Given the description of an element on the screen output the (x, y) to click on. 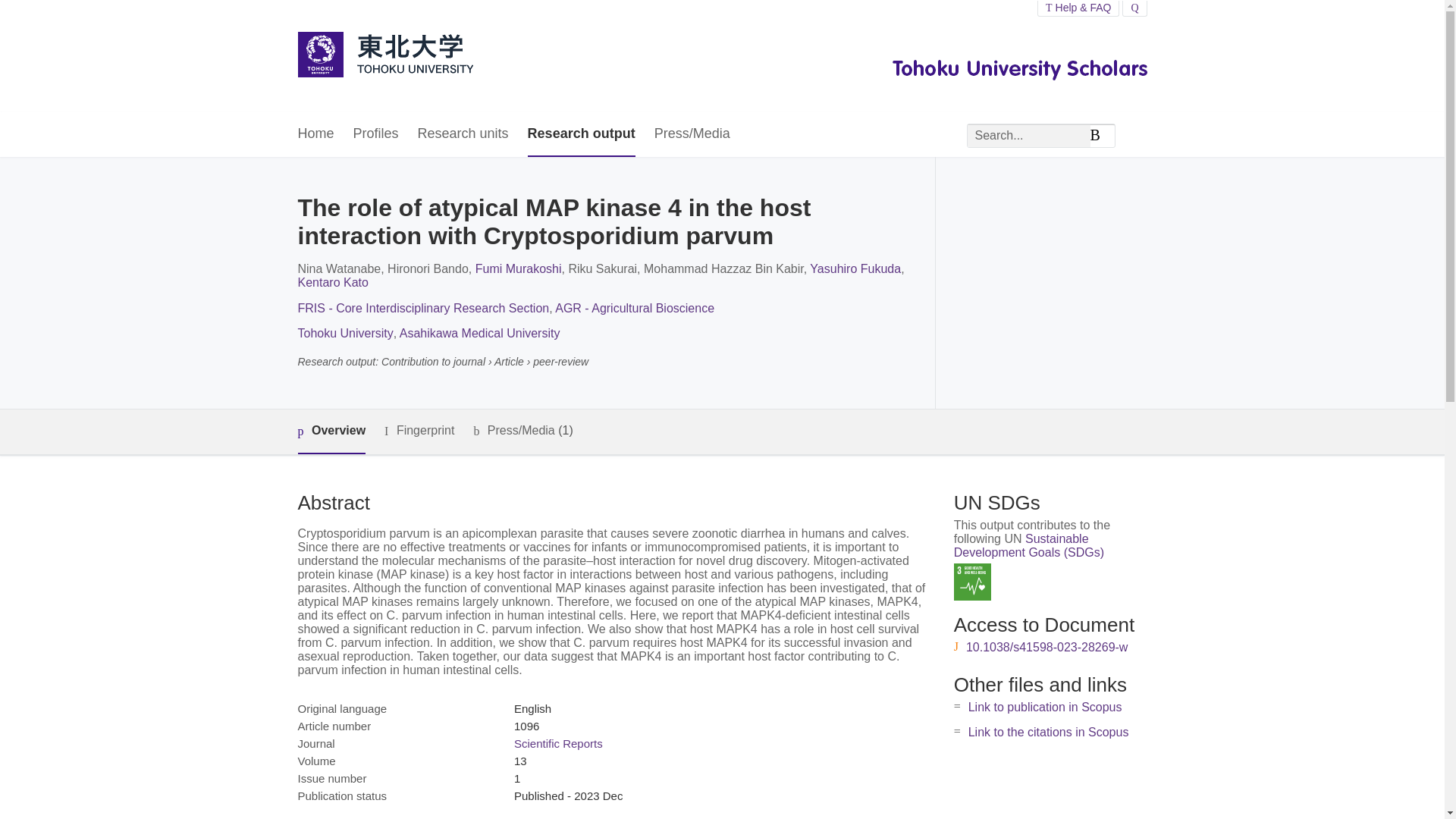
Kentaro Kato (332, 282)
Overview (331, 431)
Yasuhiro Fukuda (855, 268)
Profiles (375, 134)
Link to publication in Scopus (1045, 707)
AGR - Agricultural Bioscience (634, 308)
FRIS - Core Interdisciplinary Research Section (422, 308)
Research units (462, 134)
Research output (580, 134)
